Given the description of an element on the screen output the (x, y) to click on. 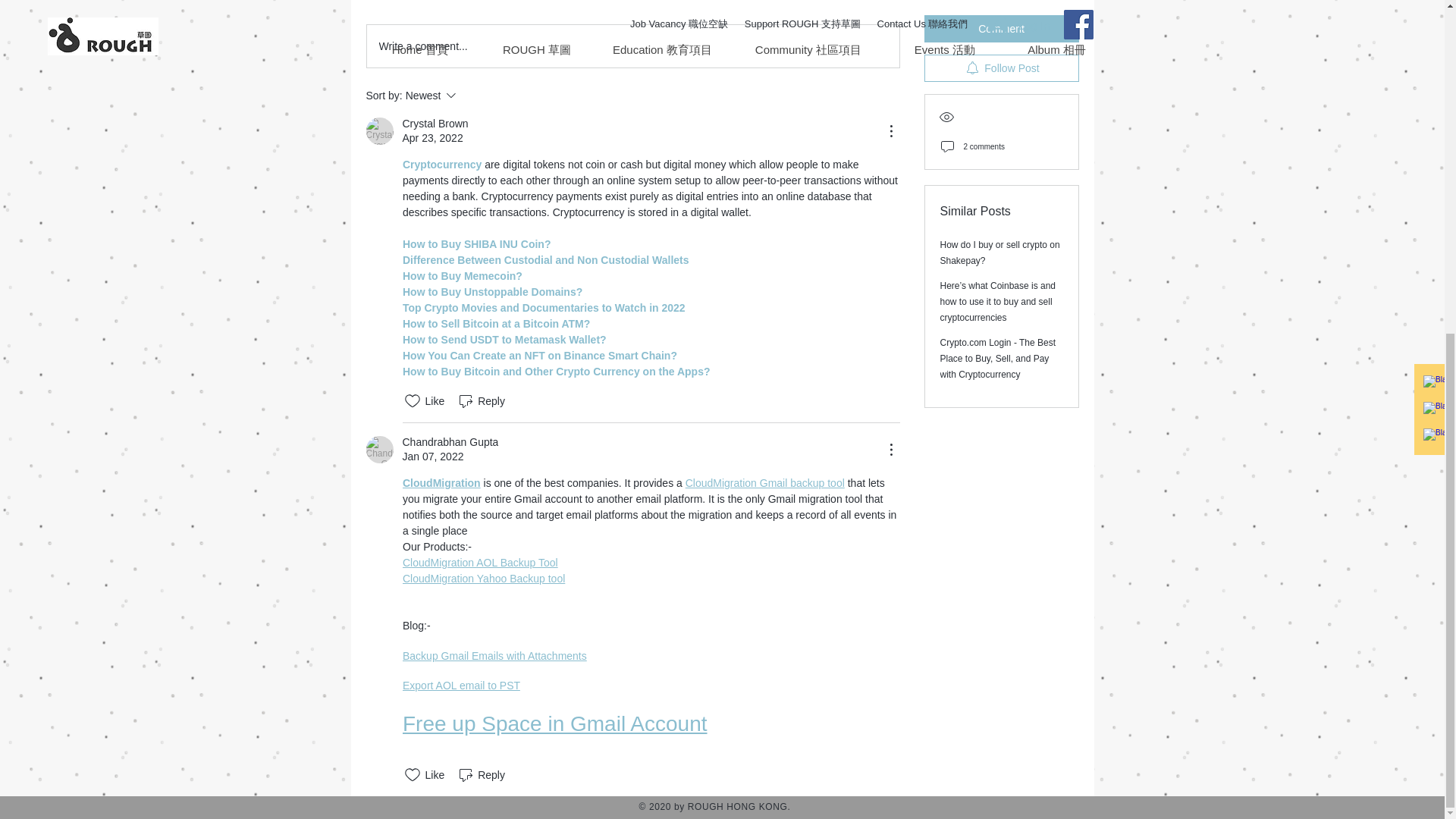
Crystal Brown (379, 130)
Chandrabhan Gupta (379, 449)
